Given the description of an element on the screen output the (x, y) to click on. 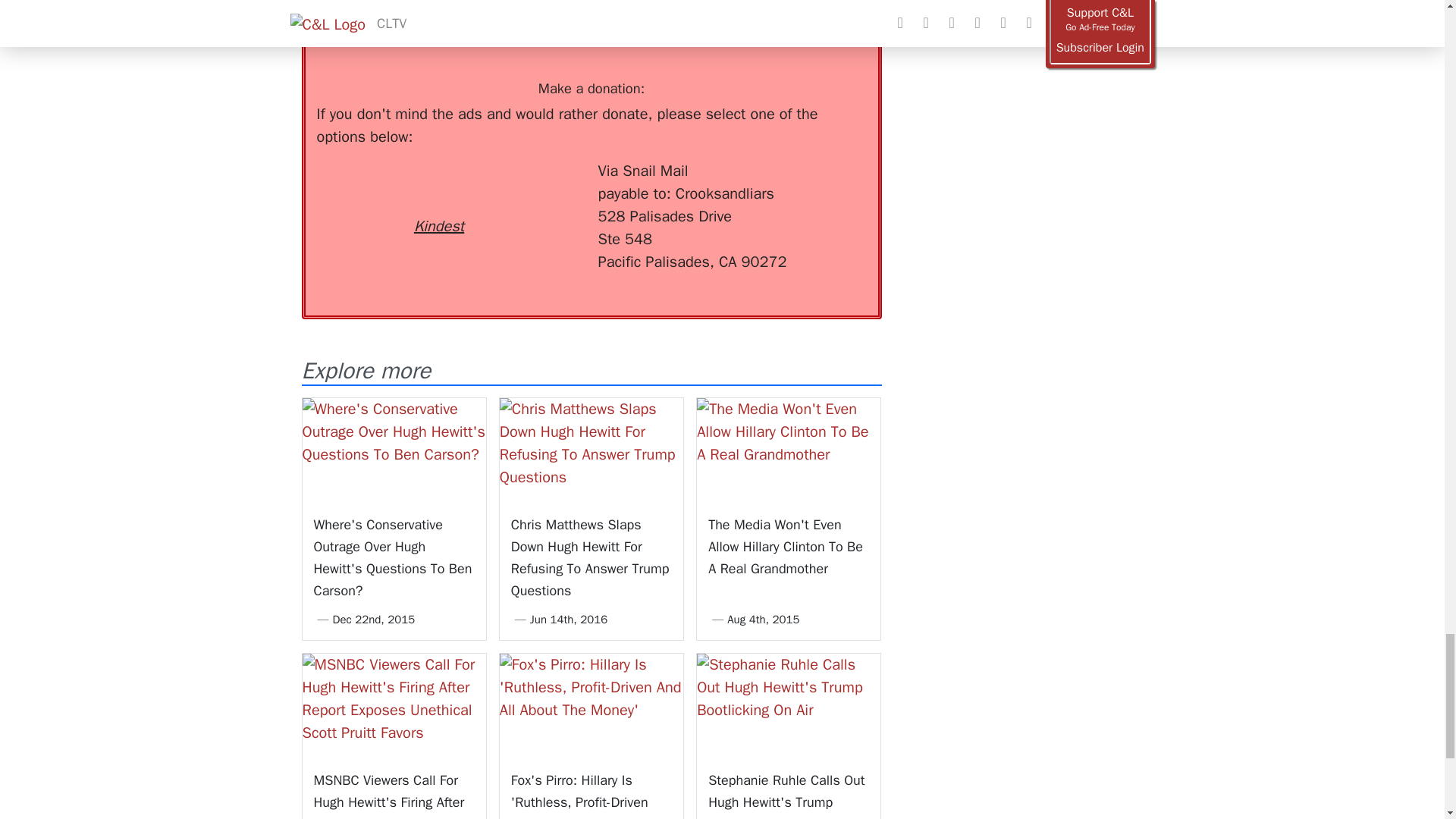
Donate via PayPal (540, 187)
Donate via Kindest (438, 198)
